Given the description of an element on the screen output the (x, y) to click on. 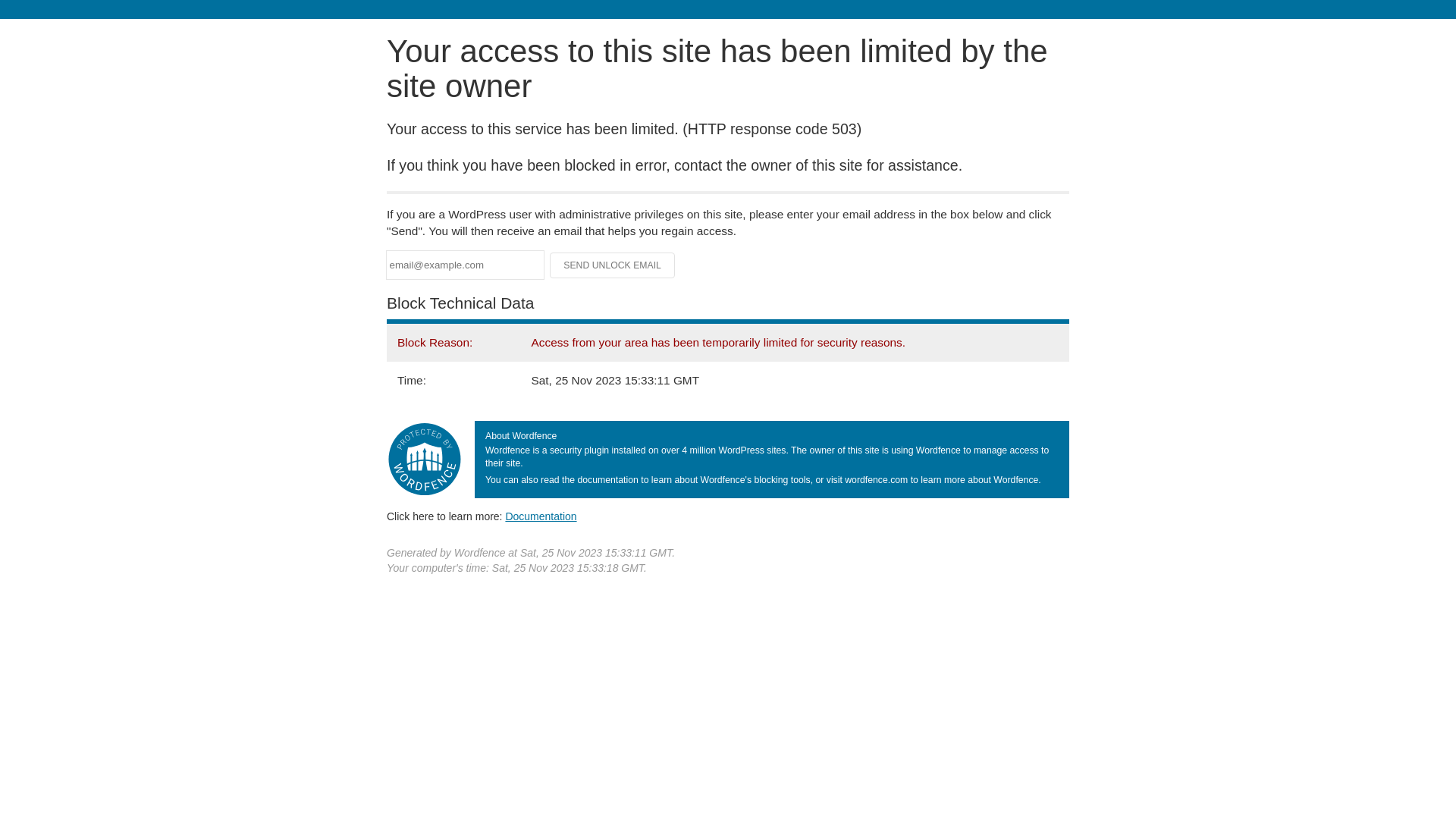
Documentation Element type: text (540, 516)
Send Unlock Email Element type: text (612, 265)
